Given the description of an element on the screen output the (x, y) to click on. 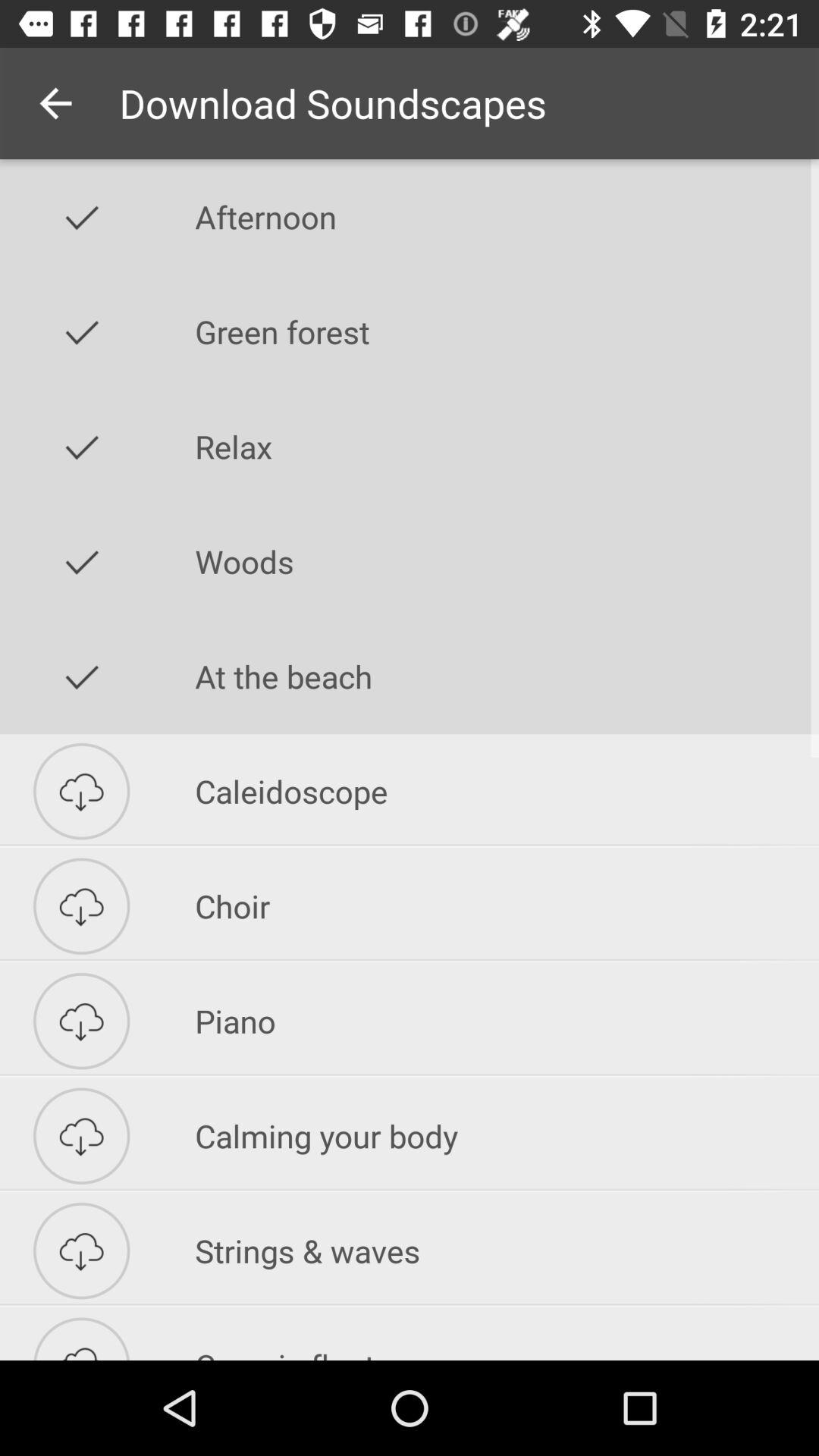
click item below the strings & waves icon (507, 1334)
